Given the description of an element on the screen output the (x, y) to click on. 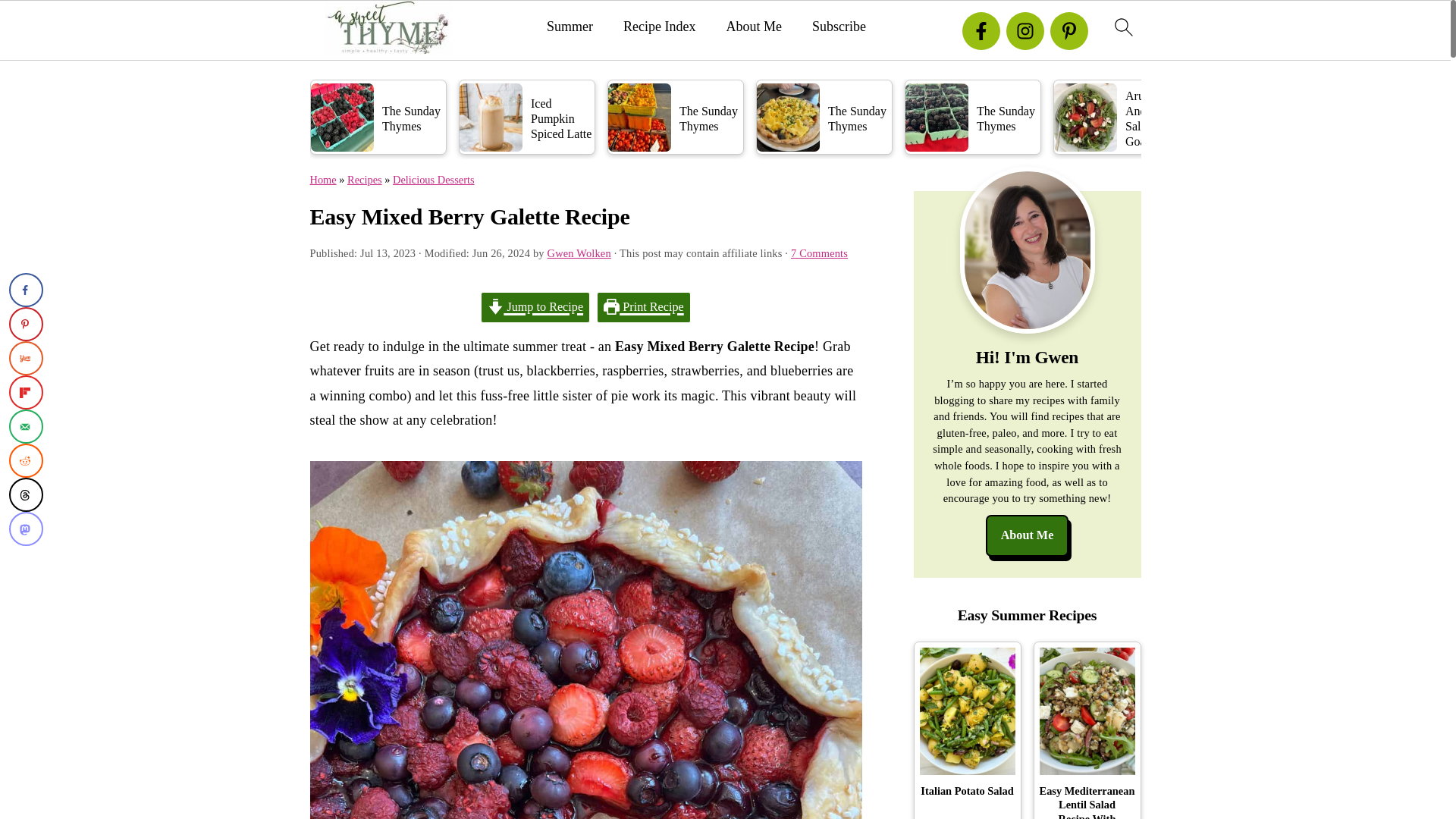
Recipe Index (659, 27)
The Sunday Thymes (973, 116)
Share on Flipboard (25, 392)
Burrata Caprese Salad (1270, 116)
Iced Pumpkin Spiced Latte (527, 116)
Home (322, 179)
search icon (1122, 26)
The Sunday Thymes (675, 116)
The Sunday Thymes (824, 116)
Share on Yummly (25, 358)
